Given the description of an element on the screen output the (x, y) to click on. 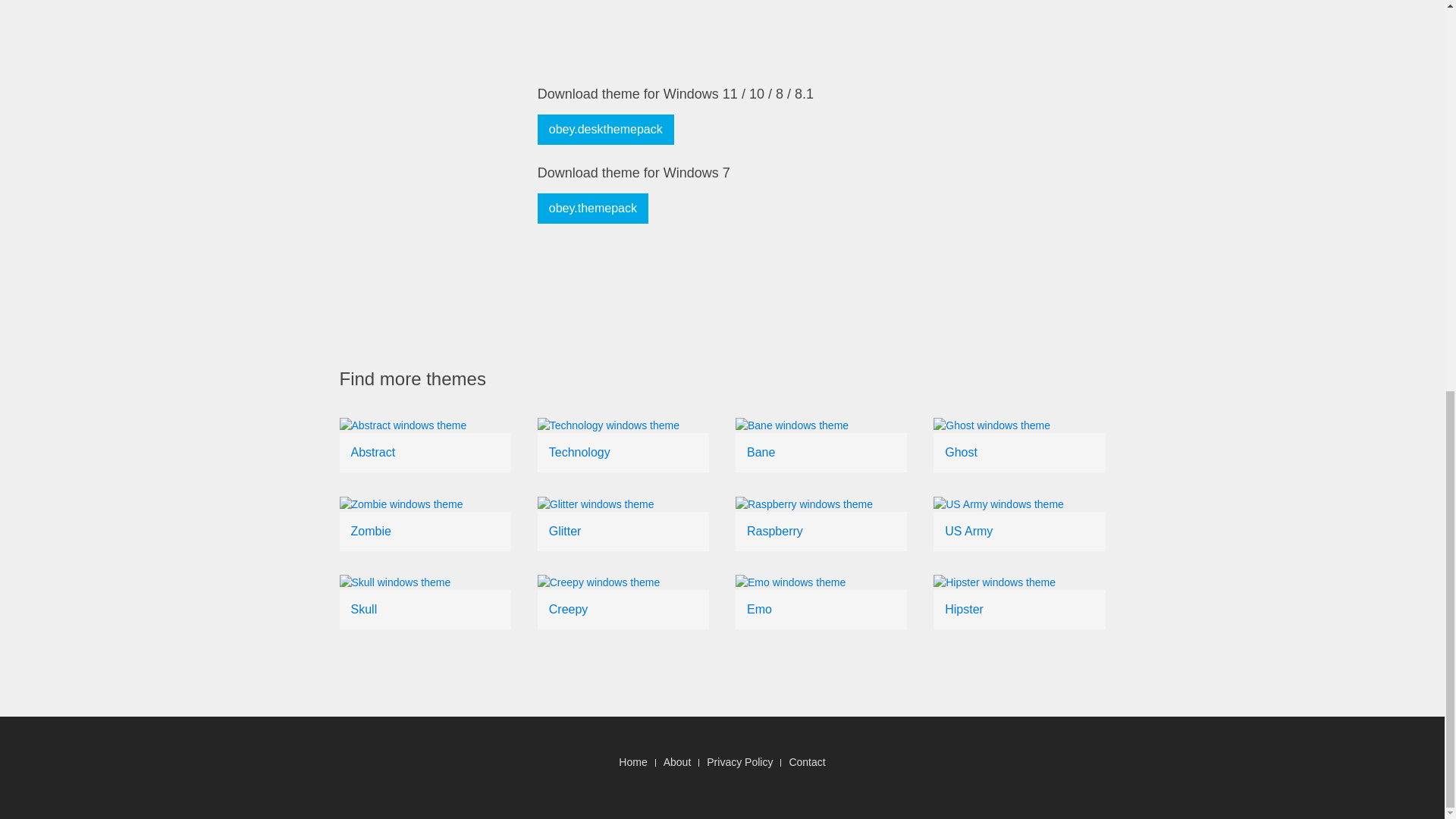
Privacy Policy (739, 761)
US Army (968, 530)
Technology (579, 451)
Advertisement (813, 21)
Hipster windows theme details (964, 608)
obey.themepack (592, 208)
Abstract (372, 451)
Emo windows theme details (758, 608)
US Army windows theme details (968, 530)
Raspberry (774, 530)
